Given the description of an element on the screen output the (x, y) to click on. 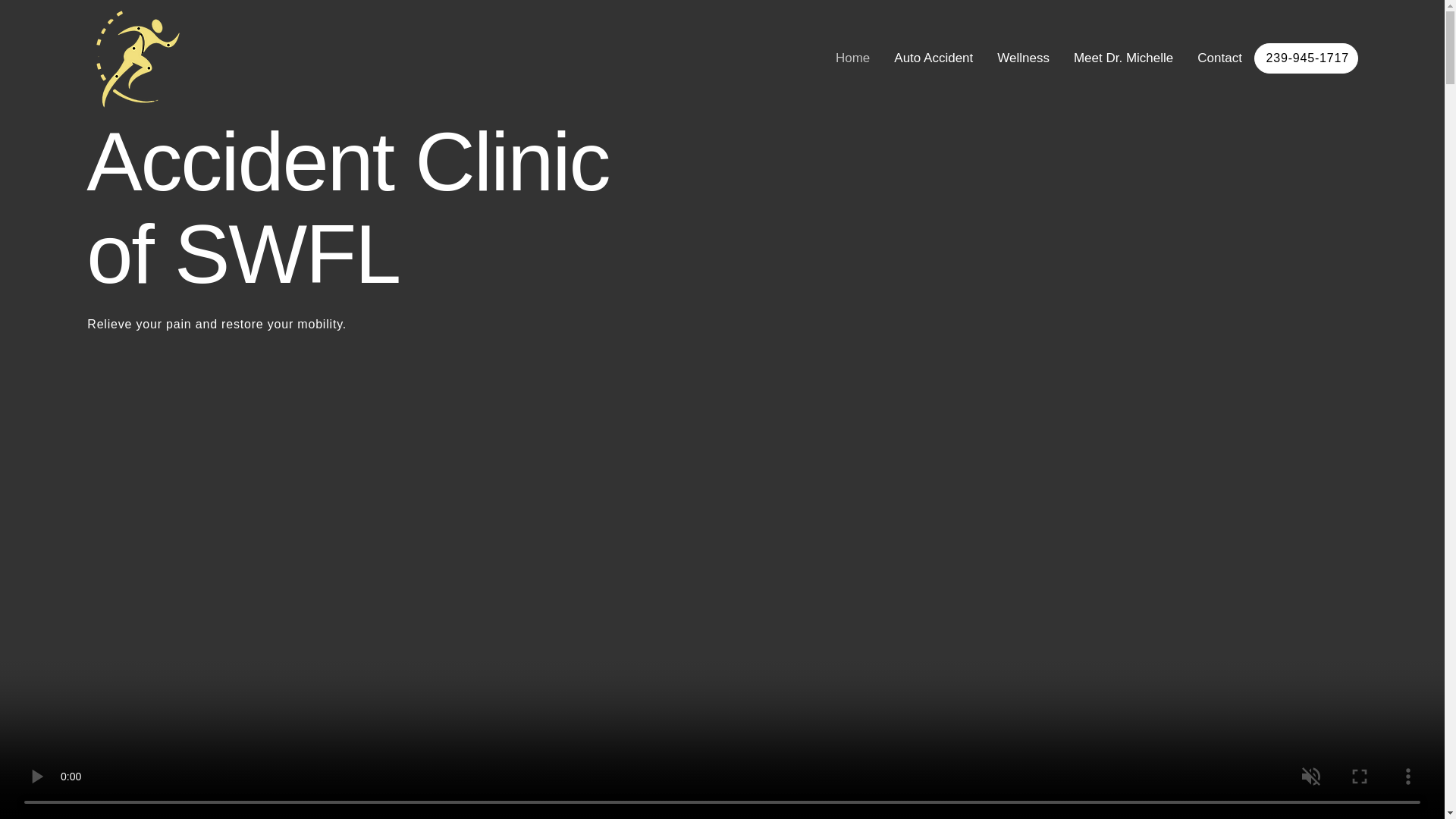
Meet Dr. Michelle (1123, 58)
Auto Accident (932, 58)
Contact (1218, 58)
Wellness (1023, 58)
Home (852, 58)
239-945-1717 (1305, 58)
